Given the description of an element on the screen output the (x, y) to click on. 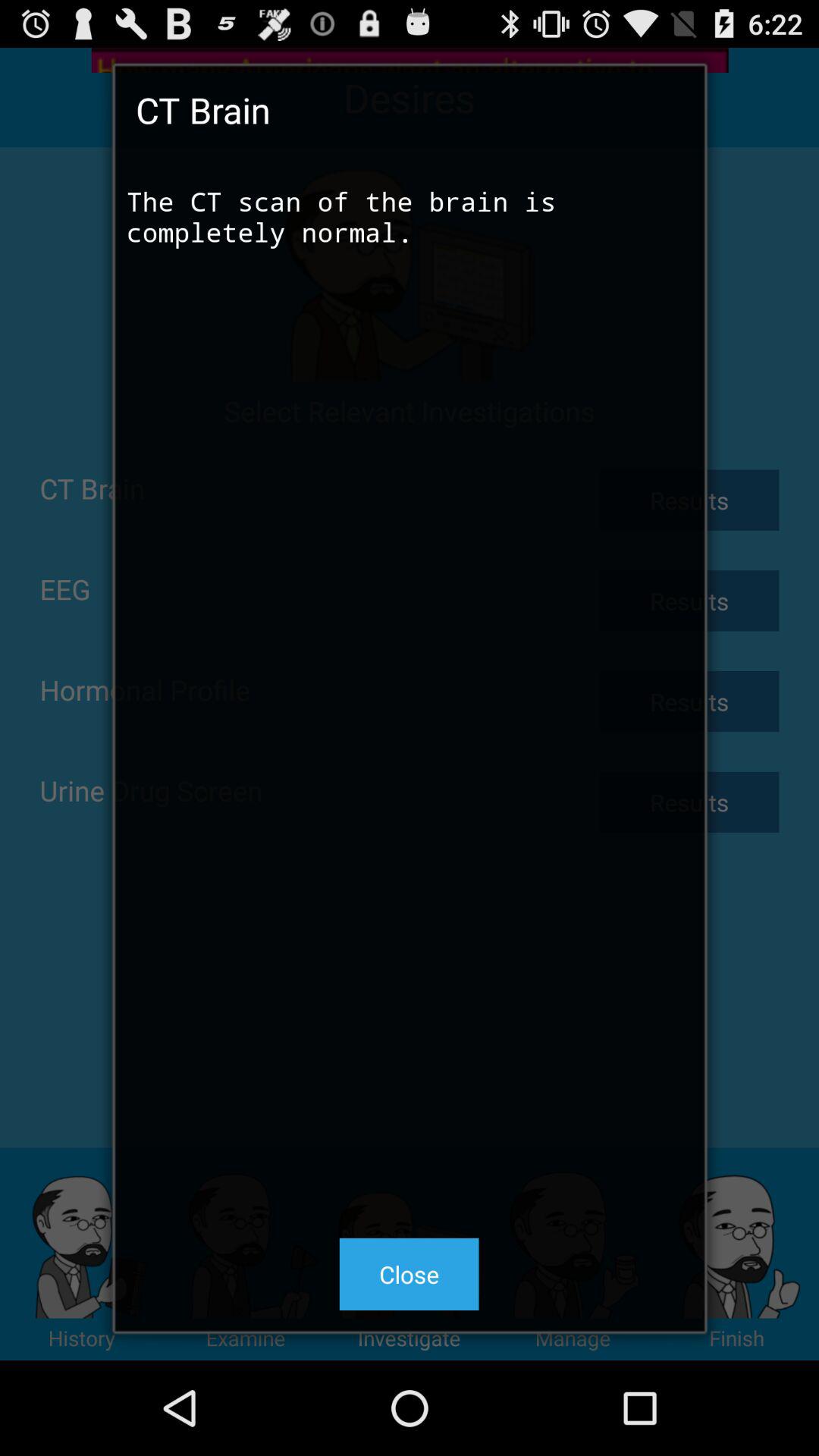
click the icon at the bottom (408, 1274)
